Given the description of an element on the screen output the (x, y) to click on. 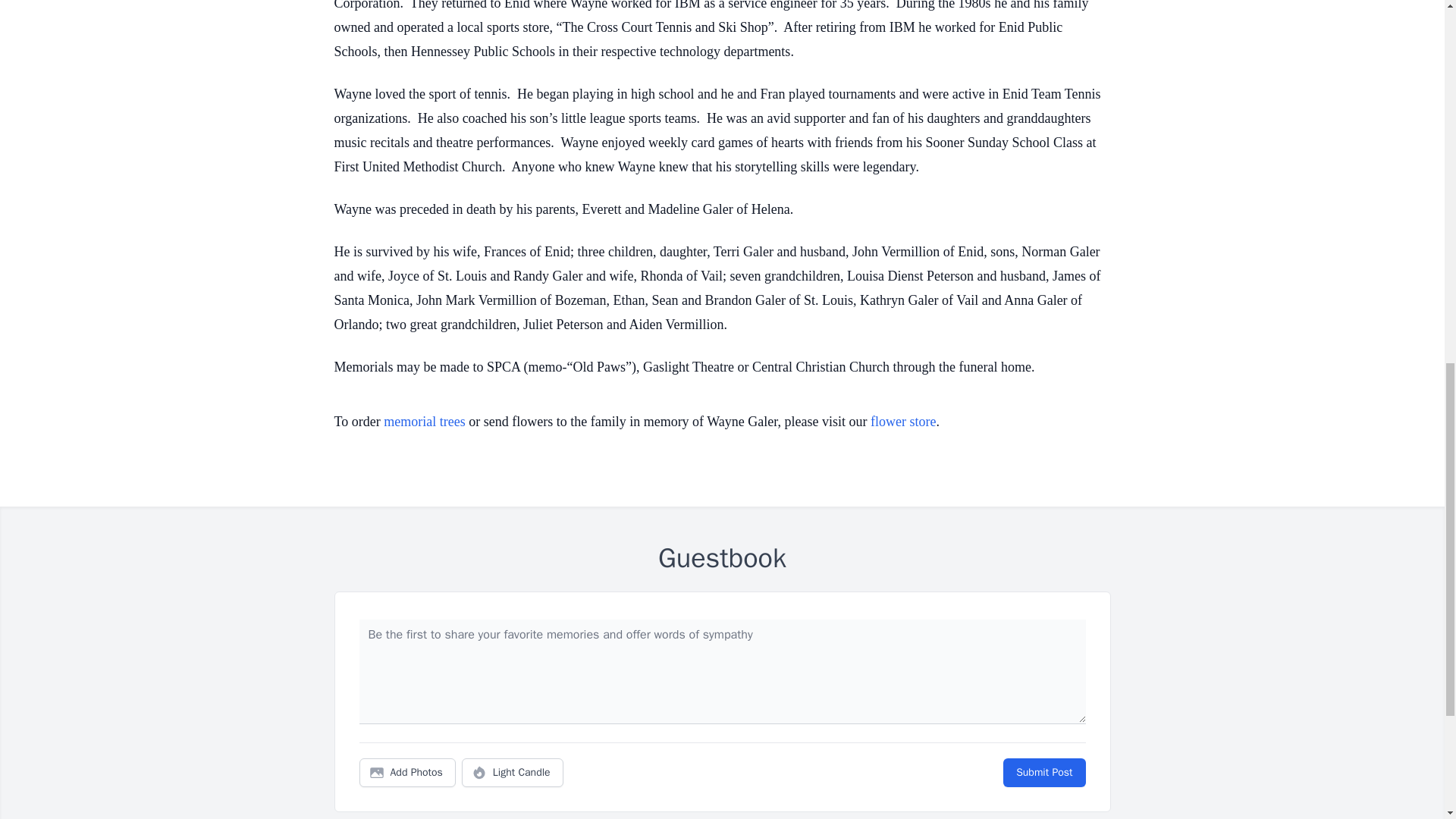
Submit Post (1043, 772)
Light Candle (512, 772)
memorial trees (424, 421)
Add Photos (407, 772)
flower store (903, 421)
